Given the description of an element on the screen output the (x, y) to click on. 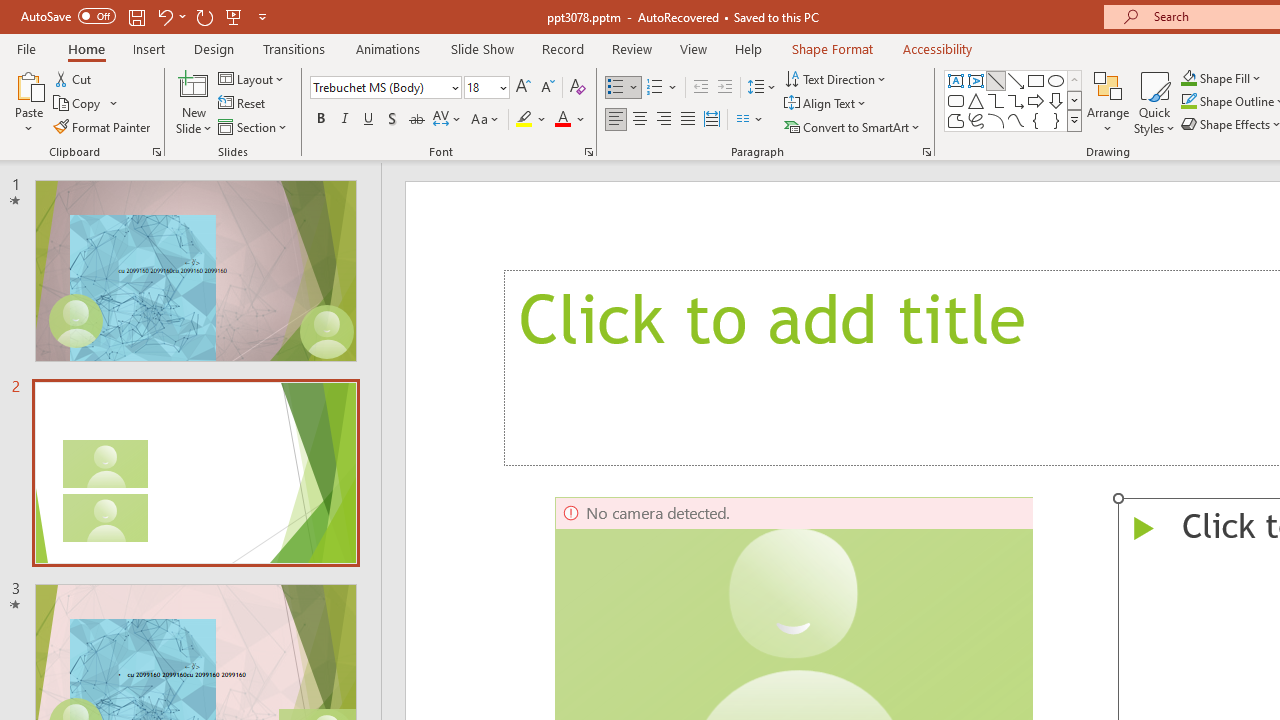
AutomationID: ShapesInsertGallery (1014, 100)
Line Arrow (1016, 80)
Curve (1016, 120)
Line Spacing (762, 87)
Left Brace (1035, 120)
Connector: Elbow Arrow (1016, 100)
Oval (1055, 80)
Rectangle (1035, 80)
